Given the description of an element on the screen output the (x, y) to click on. 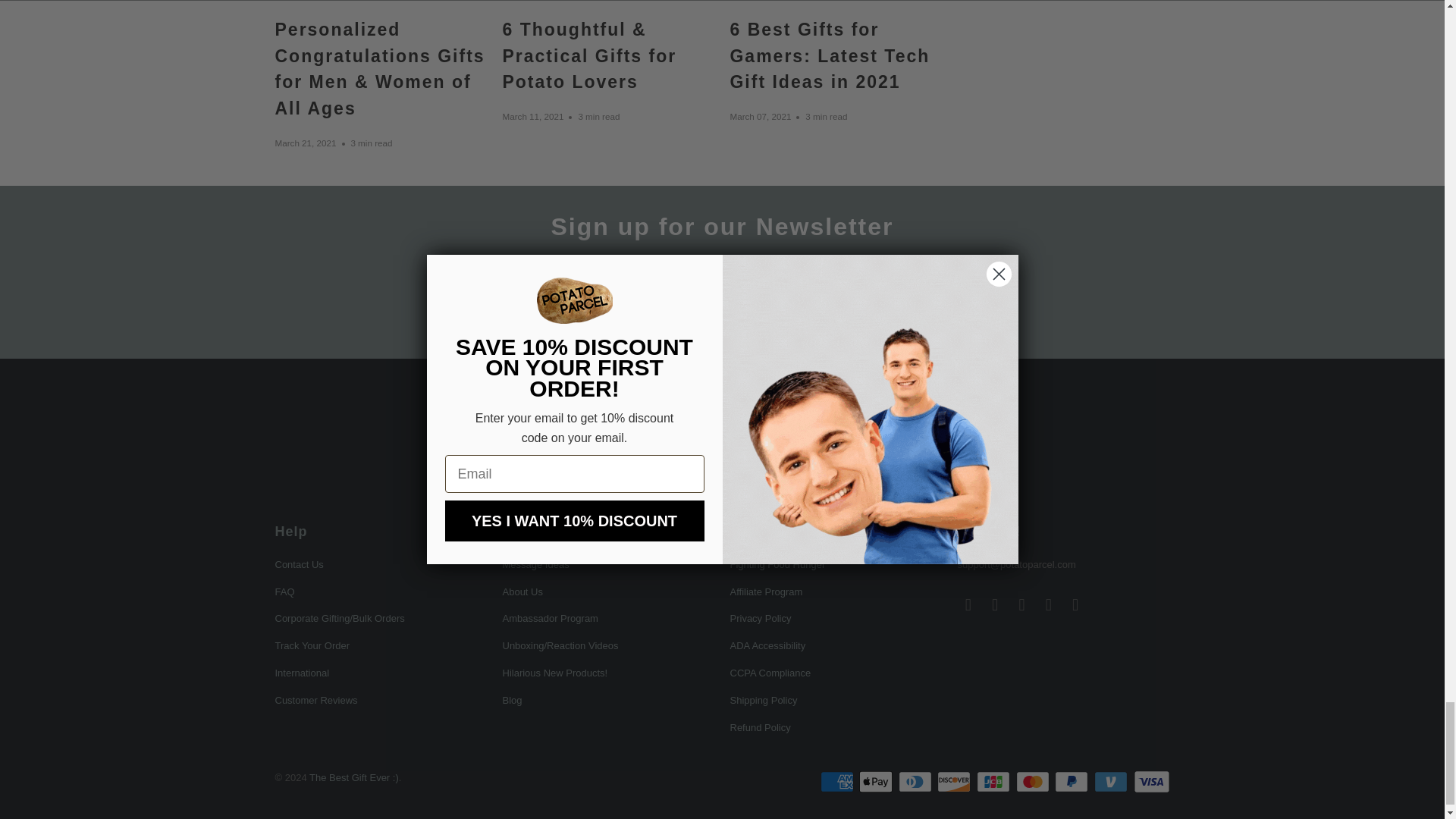
Diners Club (916, 781)
JCB (994, 781)
American Express (839, 781)
Visa (1150, 781)
Discover (955, 781)
Apple Pay (877, 781)
Mastercard (1034, 781)
Sign Up (842, 307)
Venmo (1112, 781)
PayPal (1072, 781)
